Given the description of an element on the screen output the (x, y) to click on. 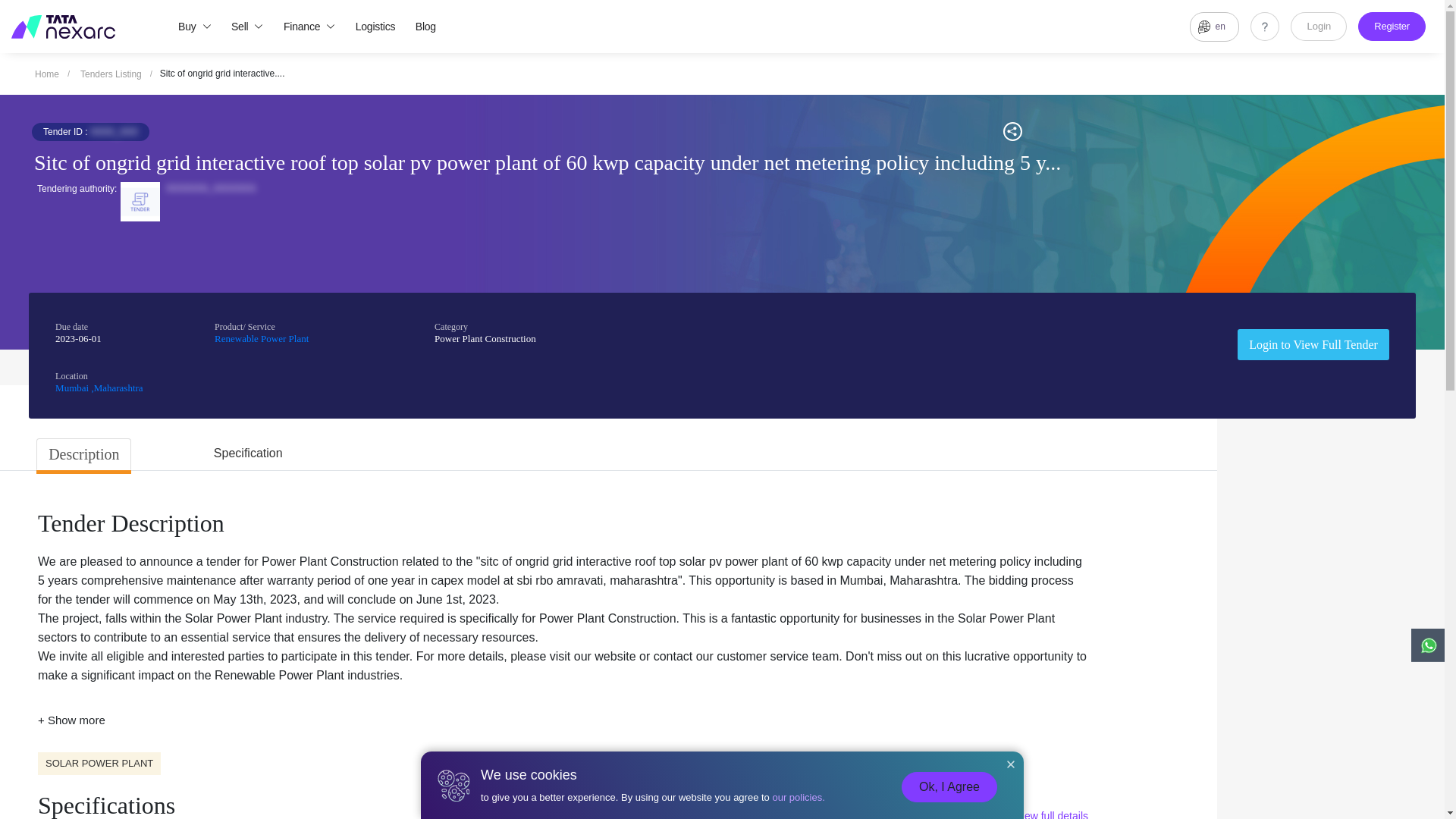
,Maharashtra (116, 387)
Login (1318, 26)
Description (83, 454)
en (1214, 26)
Blog (424, 26)
Renewable Power Plant (261, 337)
Login to View Full Tender (1313, 342)
Logistics (375, 26)
Login to View Full Tender (1313, 344)
Register (1391, 26)
